Given the description of an element on the screen output the (x, y) to click on. 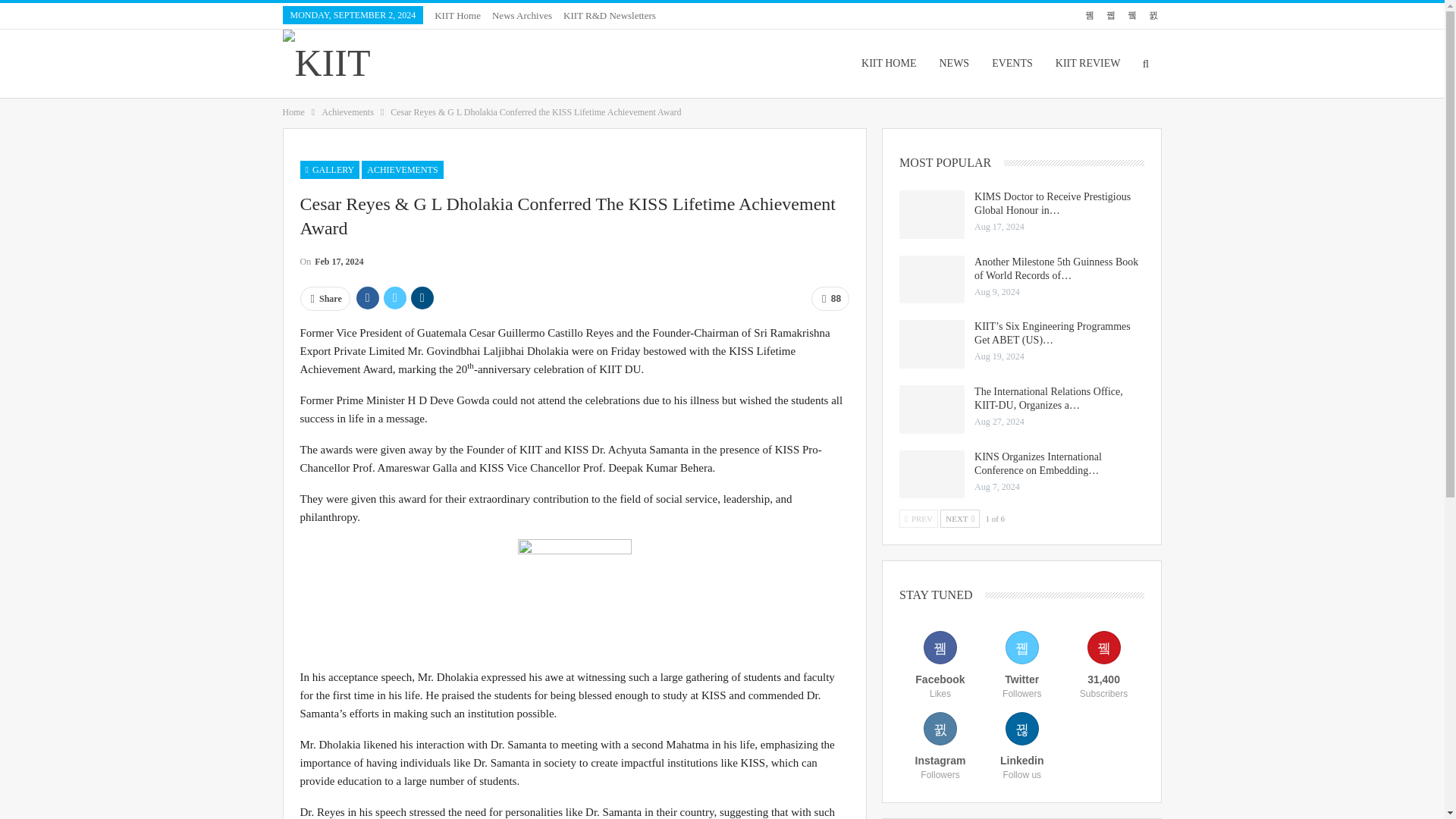
News Archives (521, 15)
Achievements (347, 112)
ACHIEVEMENTS (401, 169)
KIIT REVIEW (1087, 63)
KIIT Home (456, 15)
GALLERY (329, 169)
EVENTS (1011, 63)
Home (293, 112)
KIIT HOME (888, 63)
